Given the description of an element on the screen output the (x, y) to click on. 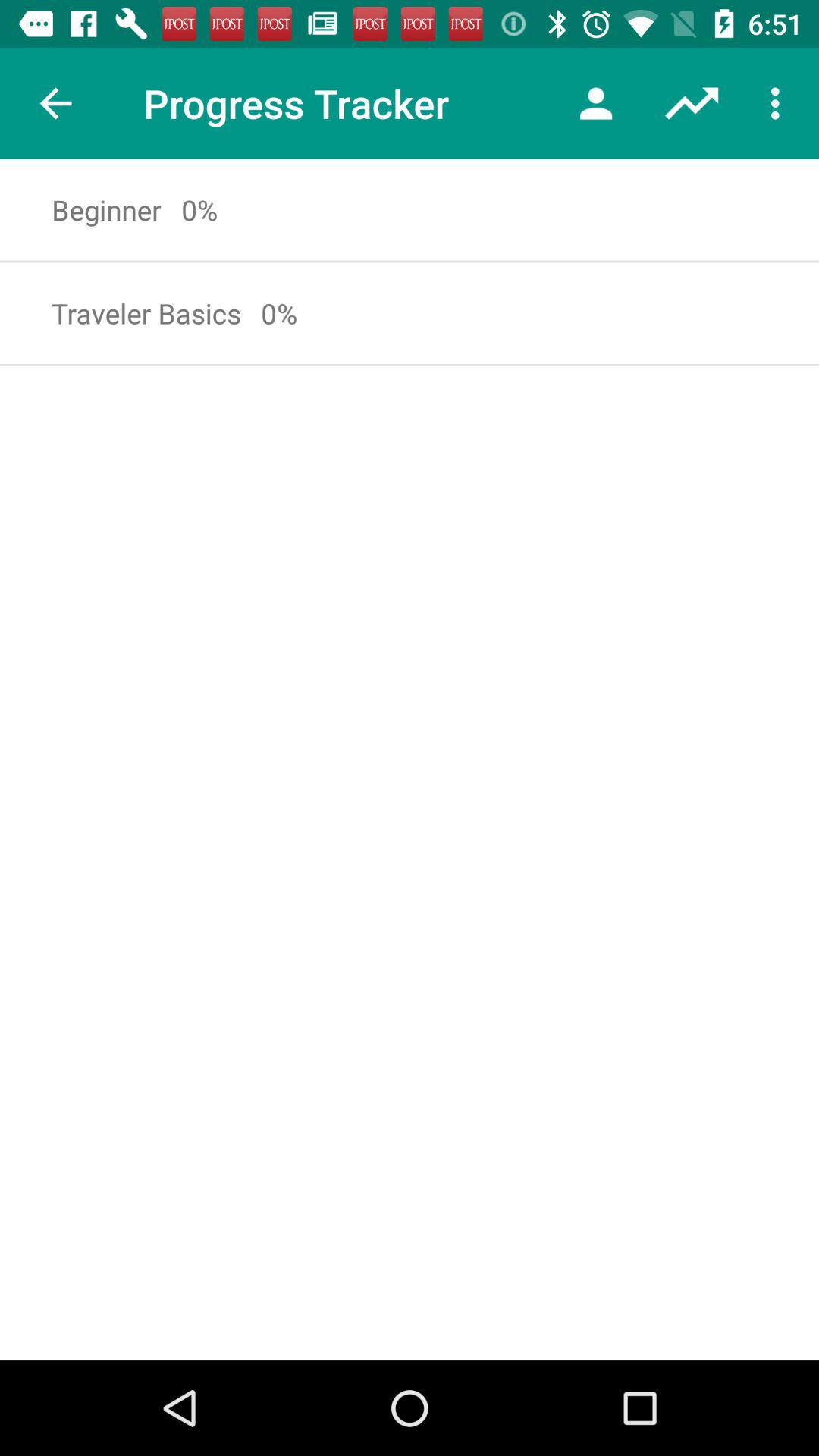
press item above the beginner (55, 103)
